Given the description of an element on the screen output the (x, y) to click on. 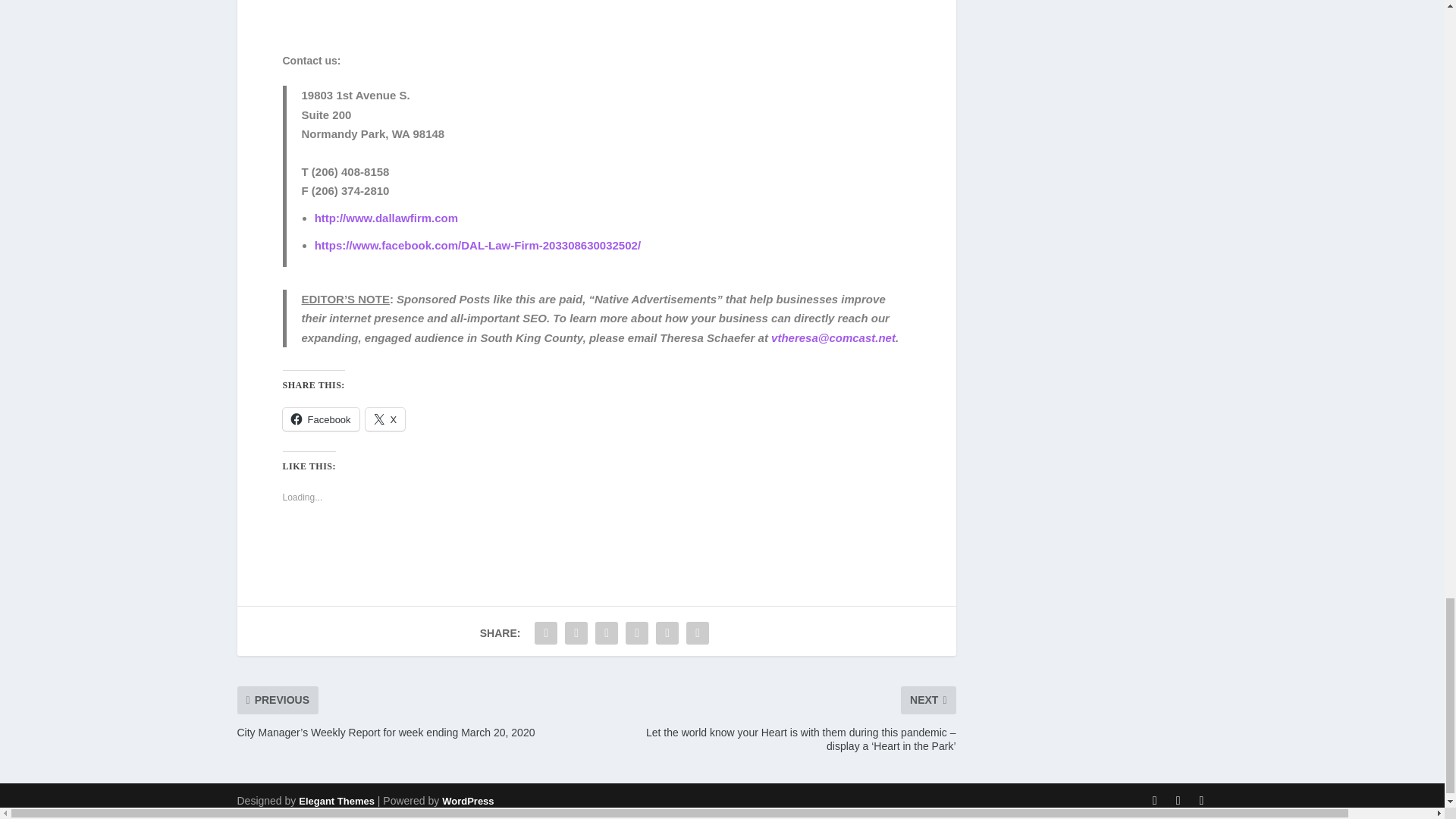
X (385, 418)
Click to share on Facebook (320, 418)
Facebook (320, 418)
Click to share on X (385, 418)
